Given the description of an element on the screen output the (x, y) to click on. 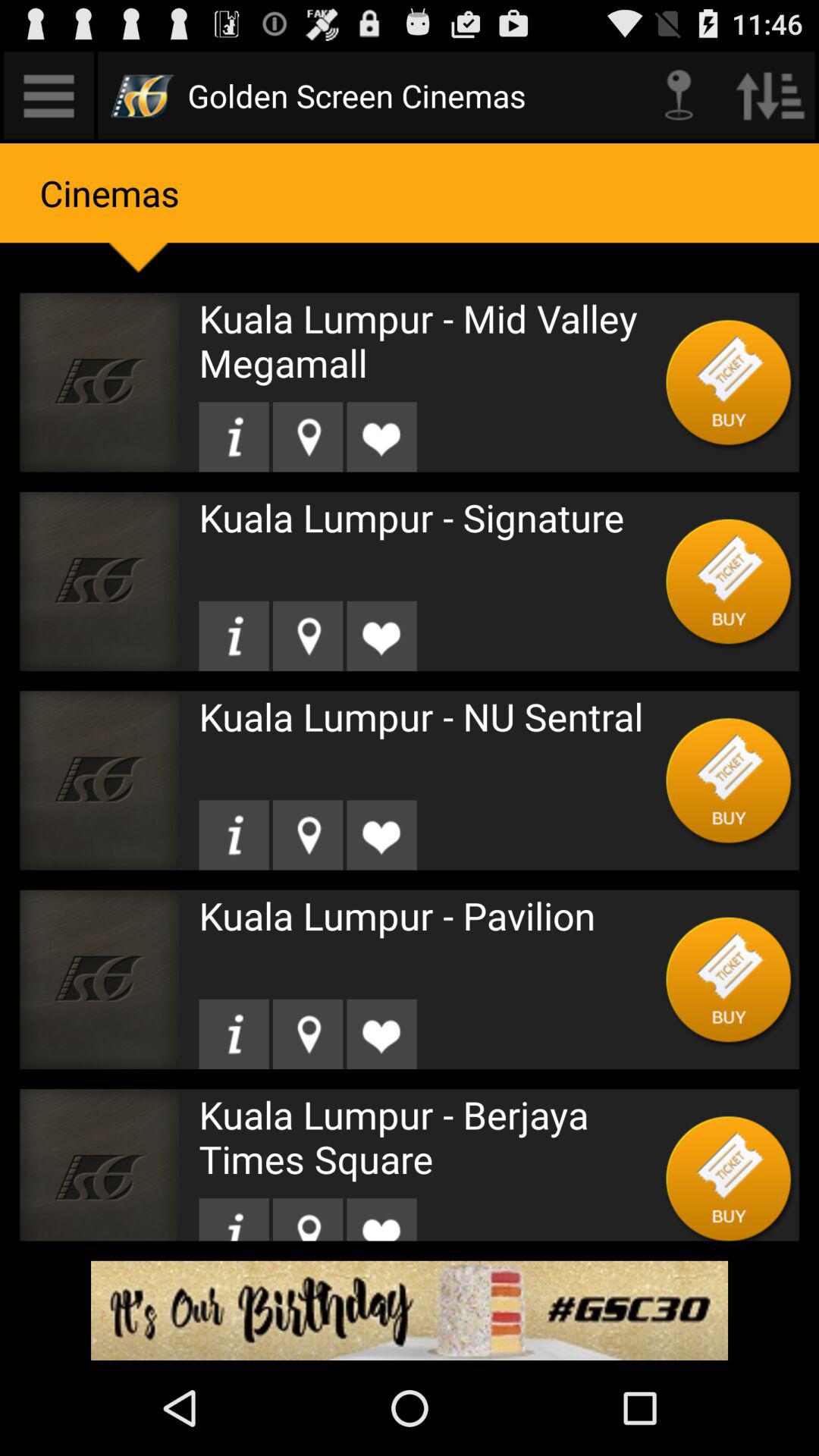
location (234, 636)
